Given the description of an element on the screen output the (x, y) to click on. 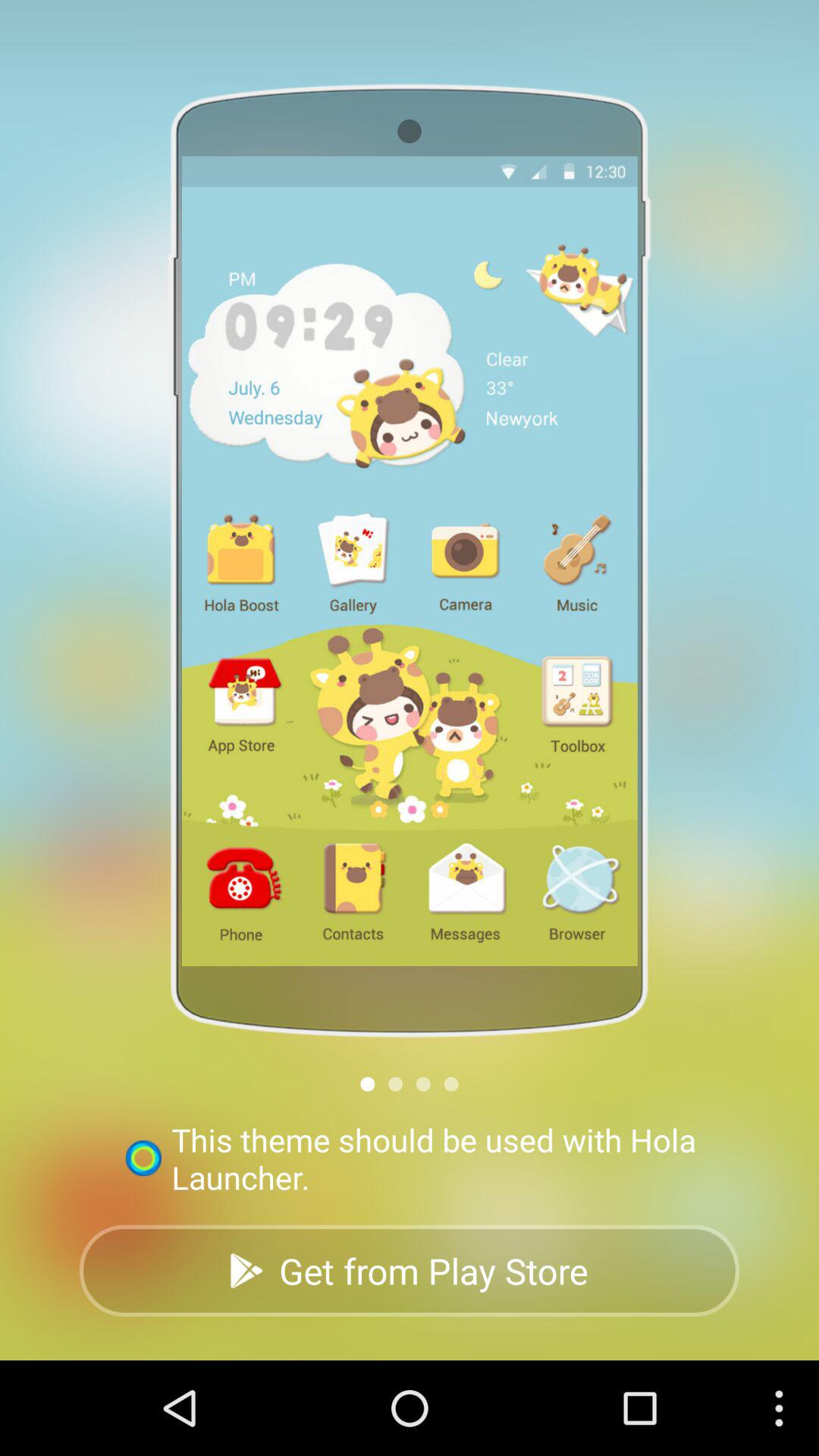
see next theme (451, 1084)
